Given the description of an element on the screen output the (x, y) to click on. 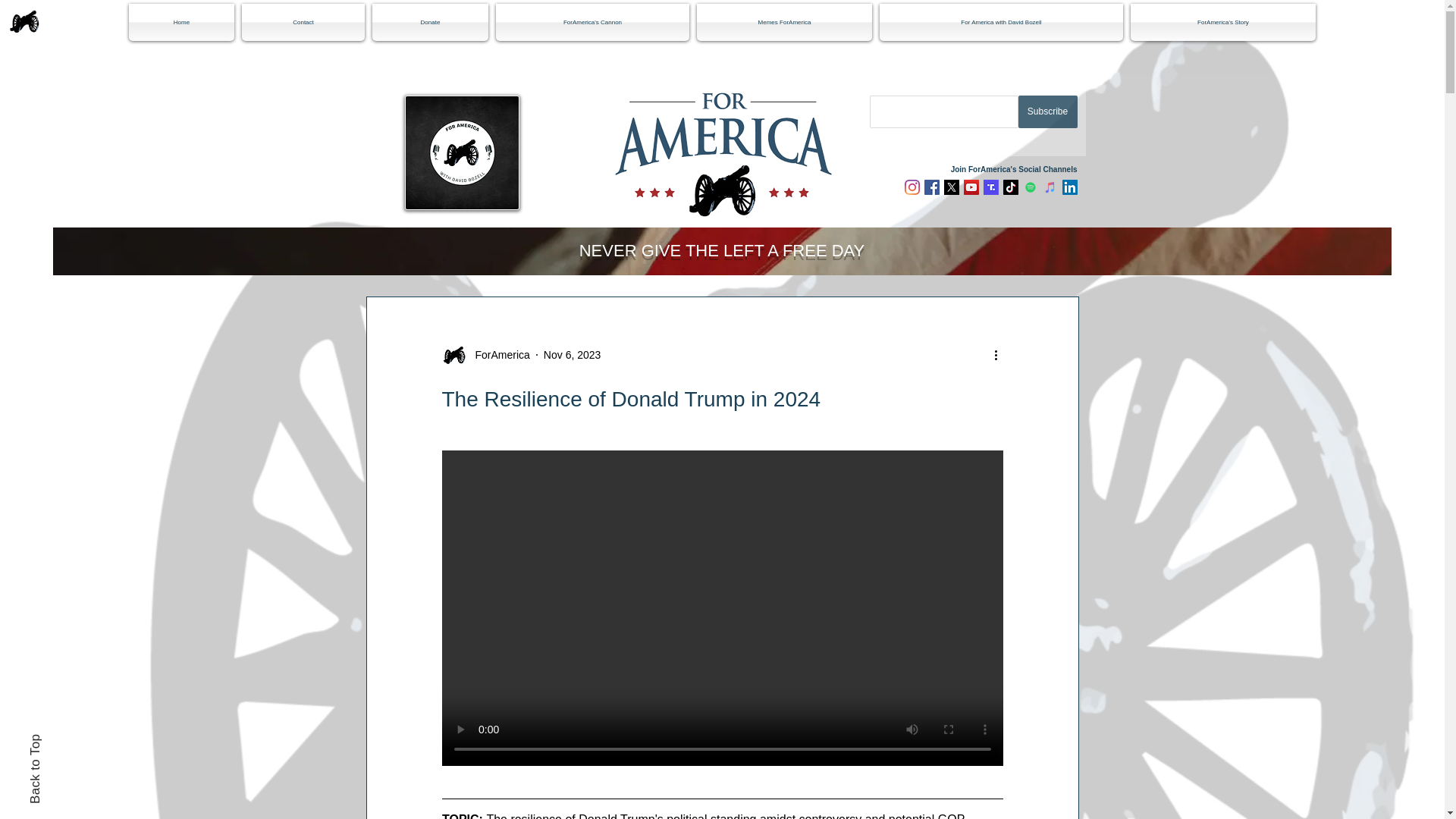
ForAmerica (485, 354)
Donate (430, 22)
For America with David Bozell (1001, 22)
ForAmerica's Story (1221, 22)
ForAmerica's Cannon (592, 22)
Subscribe (1047, 111)
Memes ForAmerica (784, 22)
Nov 6, 2023 (572, 354)
Contact (303, 22)
Back to Top (62, 740)
Home (183, 22)
ForAmerica (497, 355)
